Given the description of an element on the screen output the (x, y) to click on. 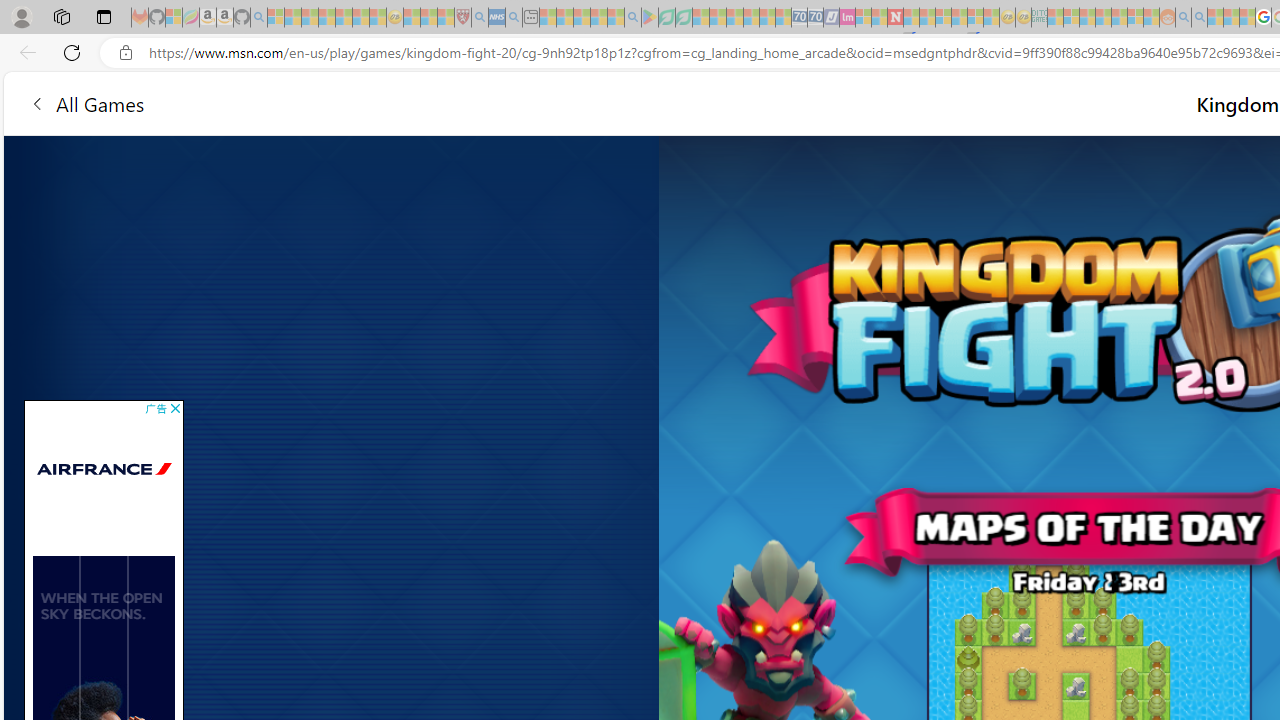
AutomationID: avion (125, 661)
Local - MSN - Sleeping (445, 17)
Expert Portfolios - Sleeping (1103, 17)
New Report Confirms 2023 Was Record Hot | Watch - Sleeping (343, 17)
Bluey: Let's Play! - Apps on Google Play - Sleeping (649, 17)
AutomationID: cbb (175, 408)
